Given the description of an element on the screen output the (x, y) to click on. 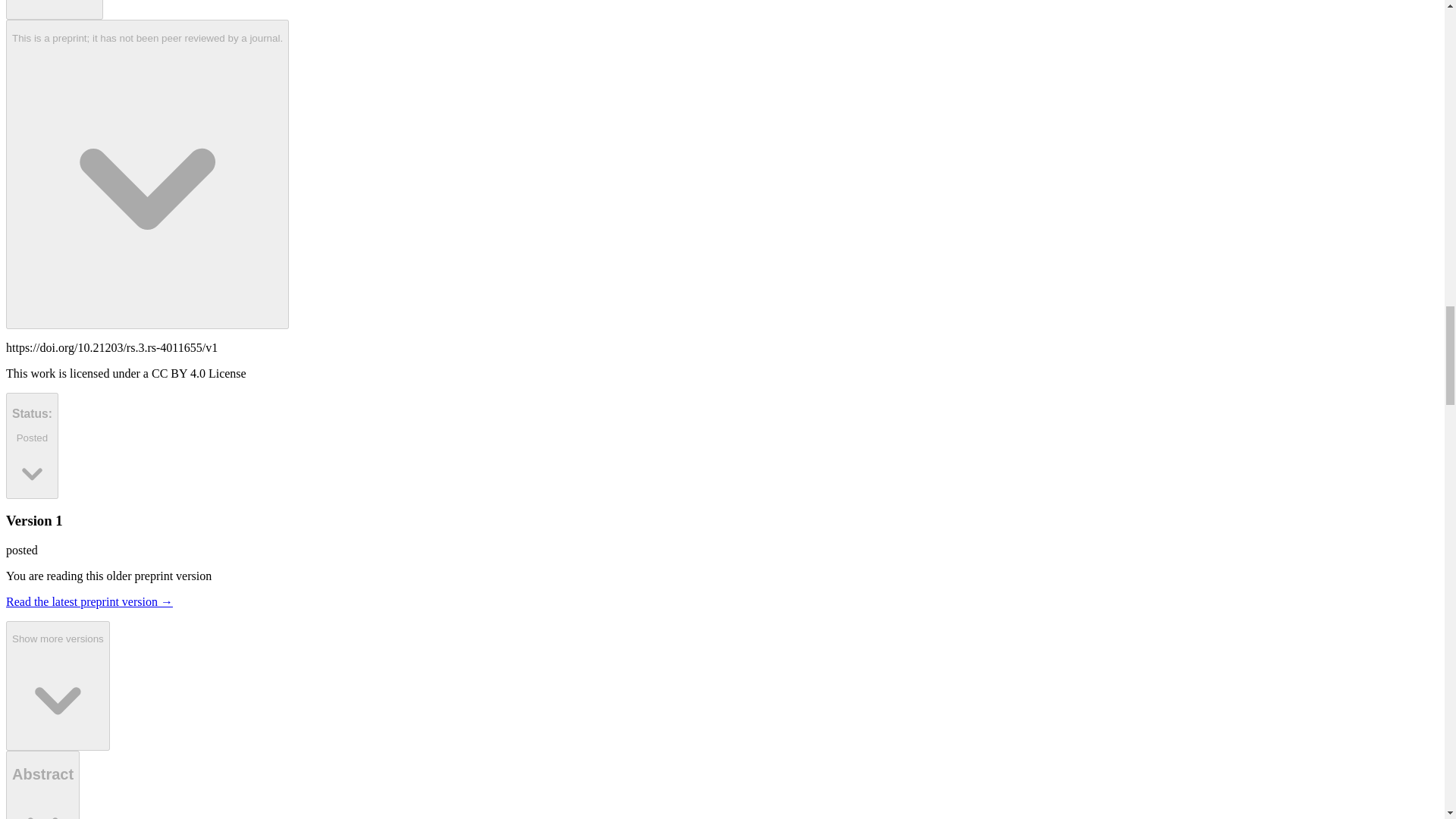
Abstract (42, 785)
Soumya Majumdar (54, 10)
